Given the description of an element on the screen output the (x, y) to click on. 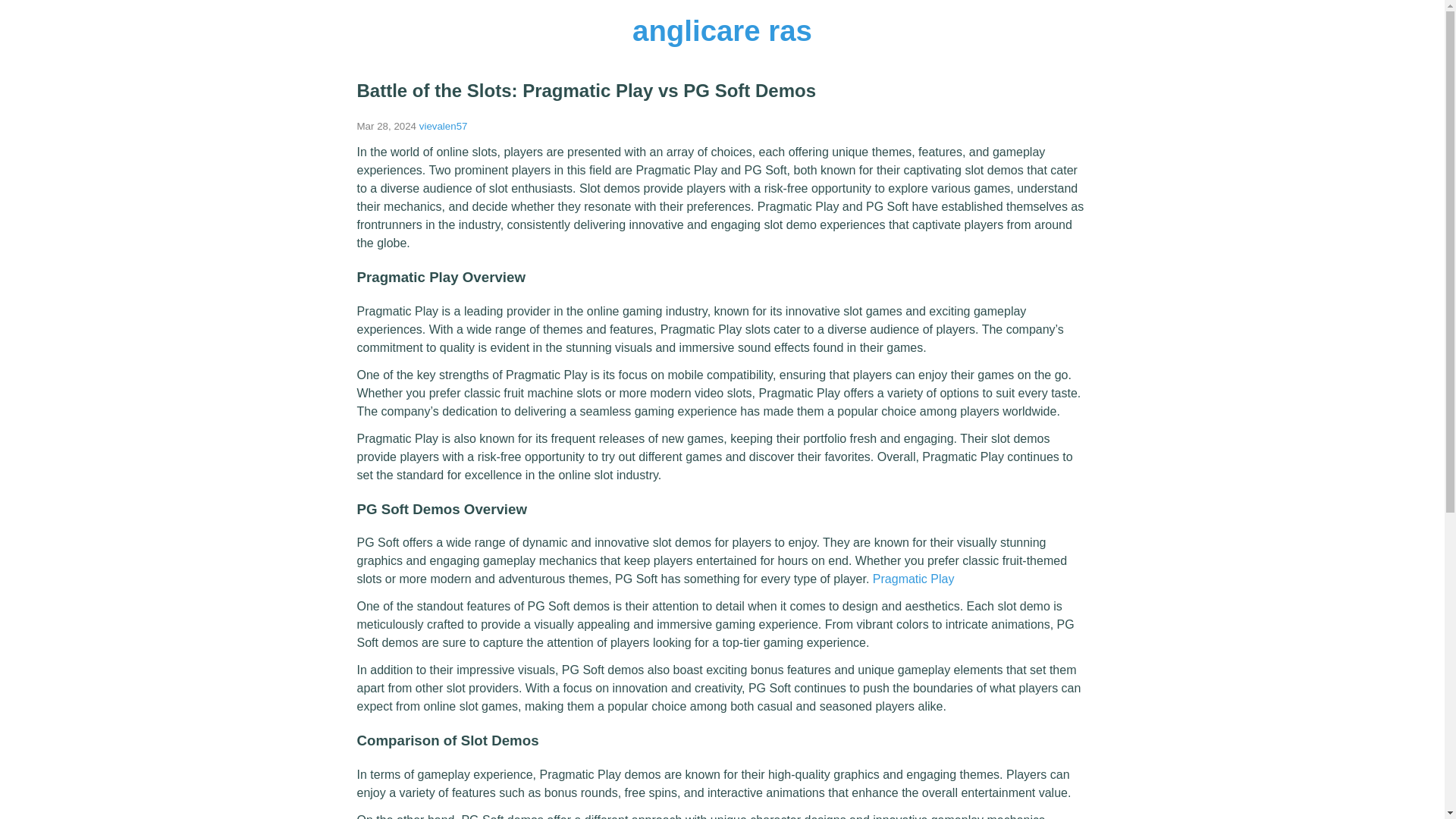
anglicare ras (721, 30)
Pragmatic Play (913, 578)
vievalen57 (443, 125)
